Given the description of an element on the screen output the (x, y) to click on. 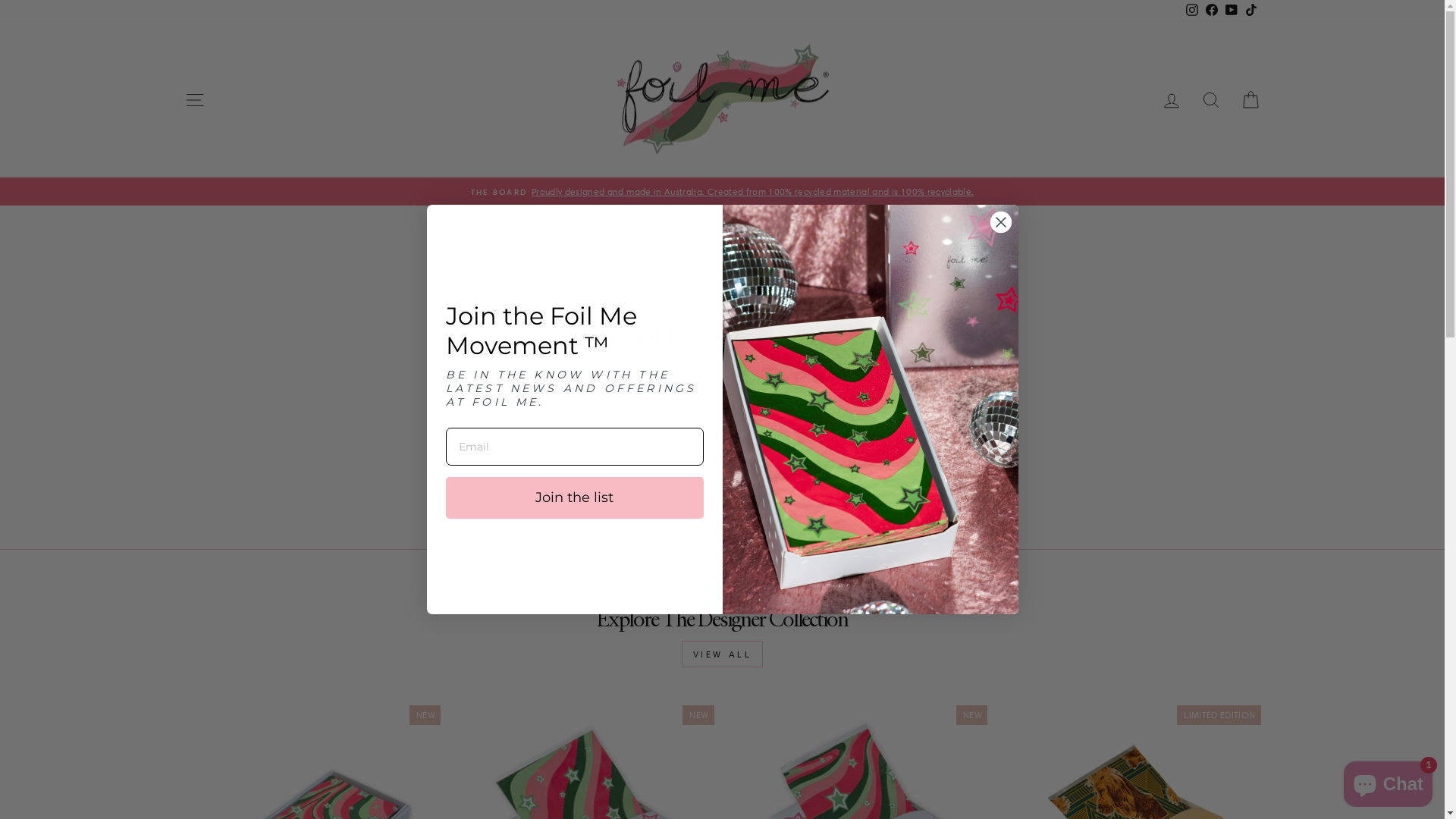
CART Element type: text (1249, 98)
Continue shopping Element type: text (722, 388)
YouTube Element type: text (1230, 10)
TikTok Element type: text (1250, 10)
LOG IN Element type: text (1170, 98)
Instagram Element type: text (1191, 10)
SITE NAVIGATION Element type: text (193, 98)
Facebook Element type: text (1210, 10)
Shopify online store chat Element type: hover (1388, 780)
VIEW ALL Element type: text (722, 653)
SEARCH Element type: text (1210, 98)
